Given the description of an element on the screen output the (x, y) to click on. 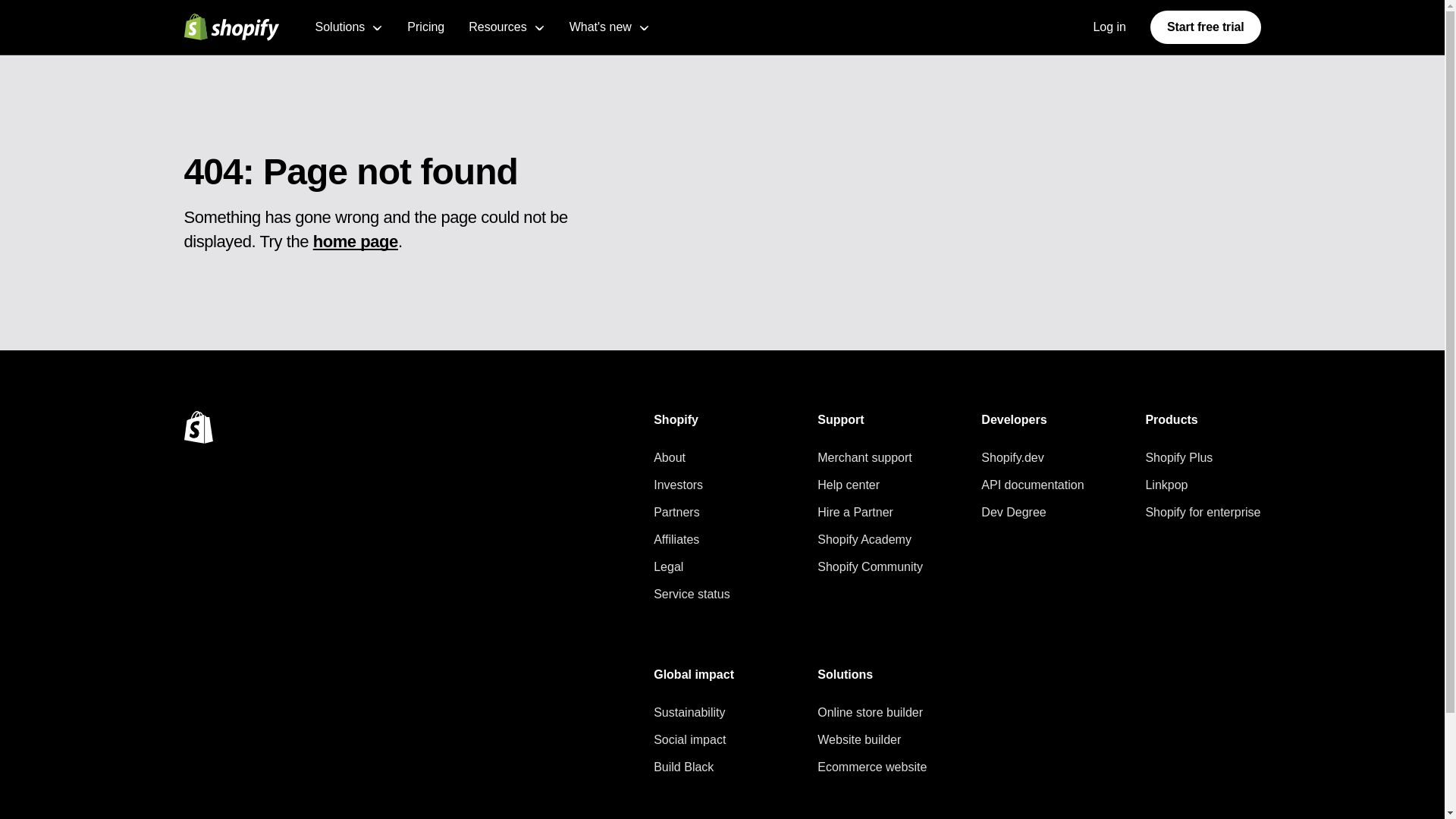
Pricing (425, 27)
Solutions (349, 27)
Resources (506, 27)
